Given the description of an element on the screen output the (x, y) to click on. 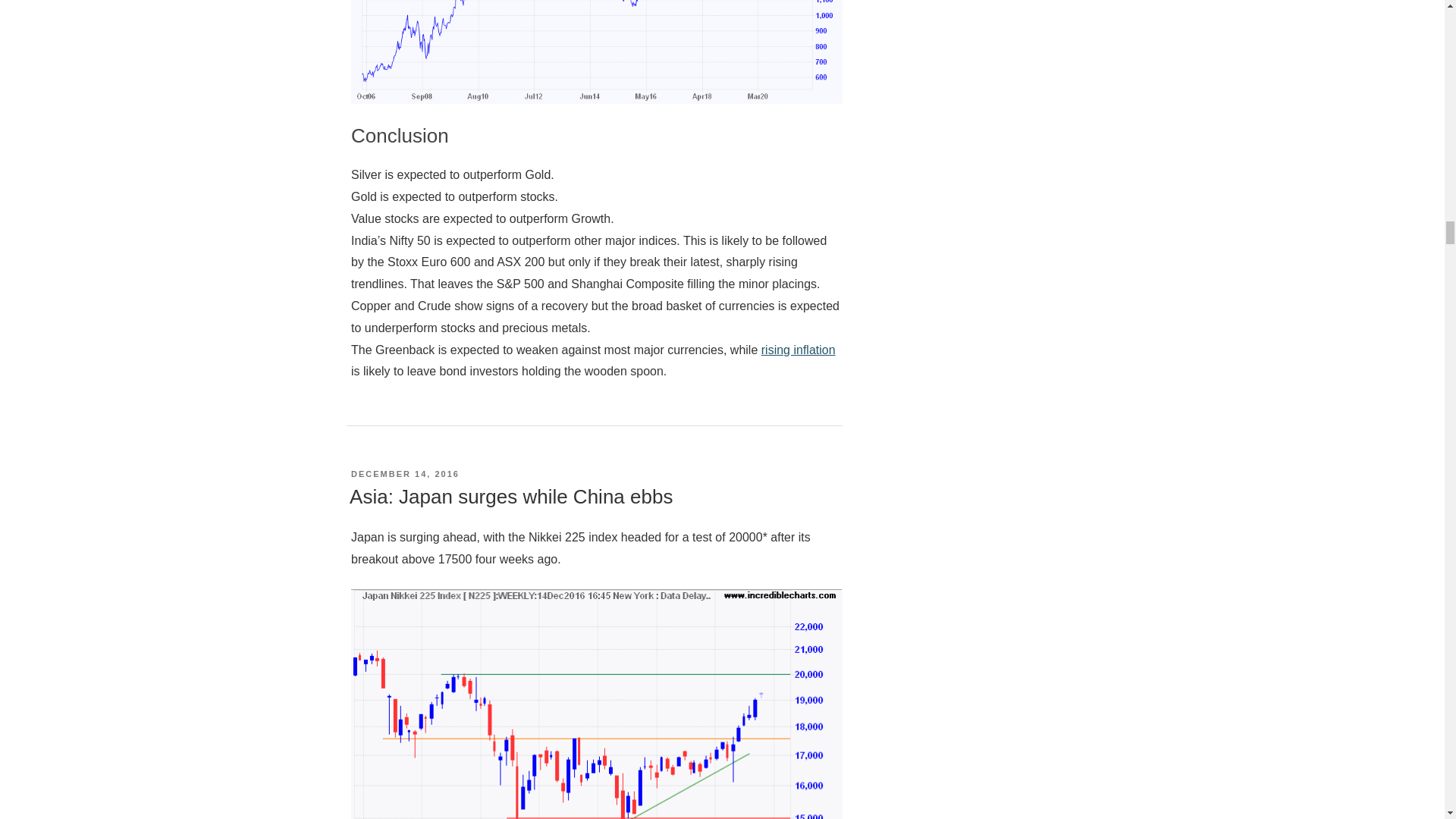
Nikkei 225 Index (596, 703)
Asia: Japan surges while China ebbs (510, 496)
rising inflation (798, 349)
DECEMBER 14, 2016 (405, 473)
